Given the description of an element on the screen output the (x, y) to click on. 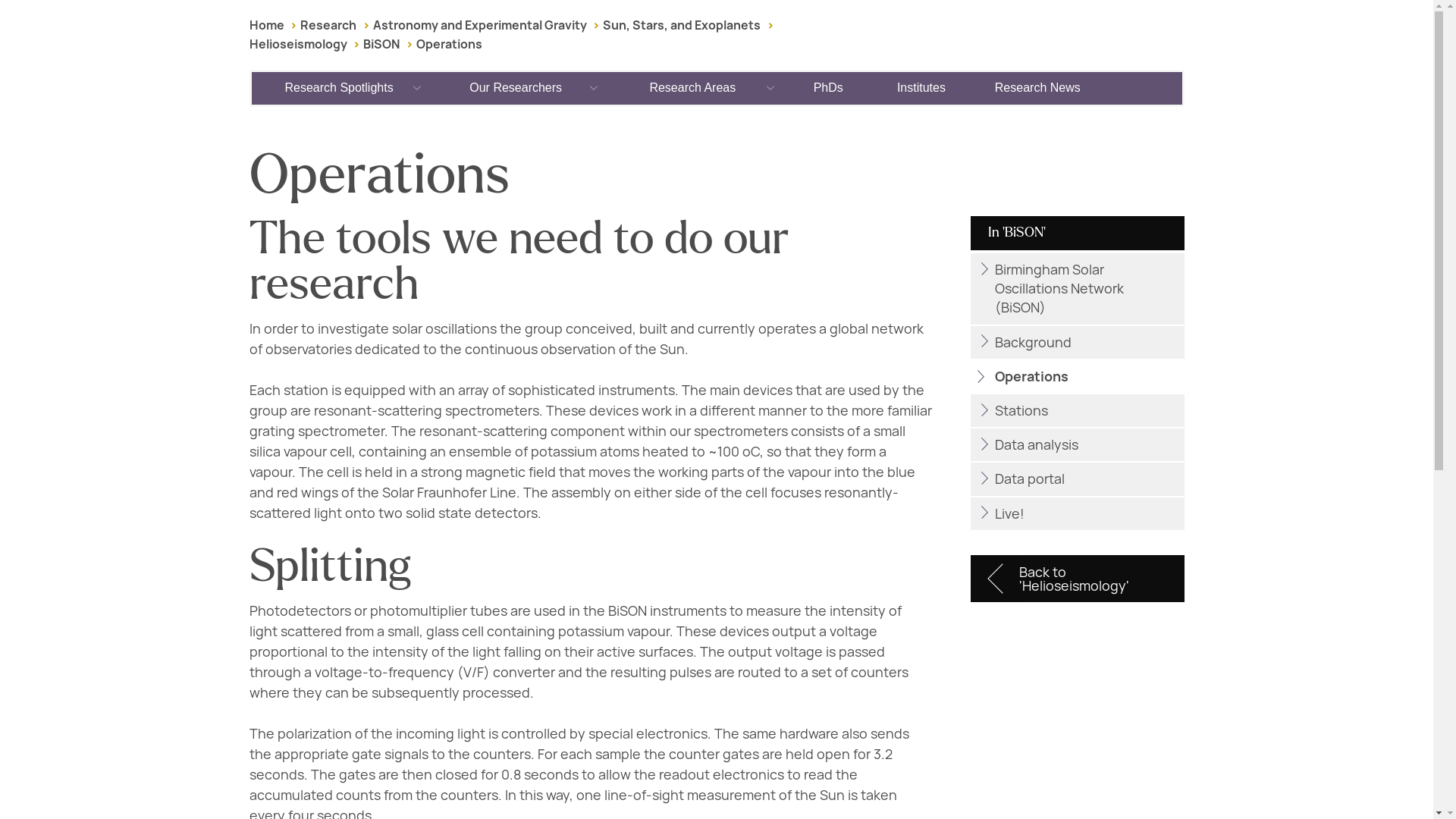
Operations (448, 44)
Home (265, 25)
BiSON (380, 44)
Astronomy and Experimental Gravity (479, 25)
Research Spotlights (339, 88)
Sun, Stars, and Exoplanets (681, 25)
Our Researchers (516, 88)
Helioseismology (297, 44)
Research (327, 25)
Research Areas (693, 88)
